Given the description of an element on the screen output the (x, y) to click on. 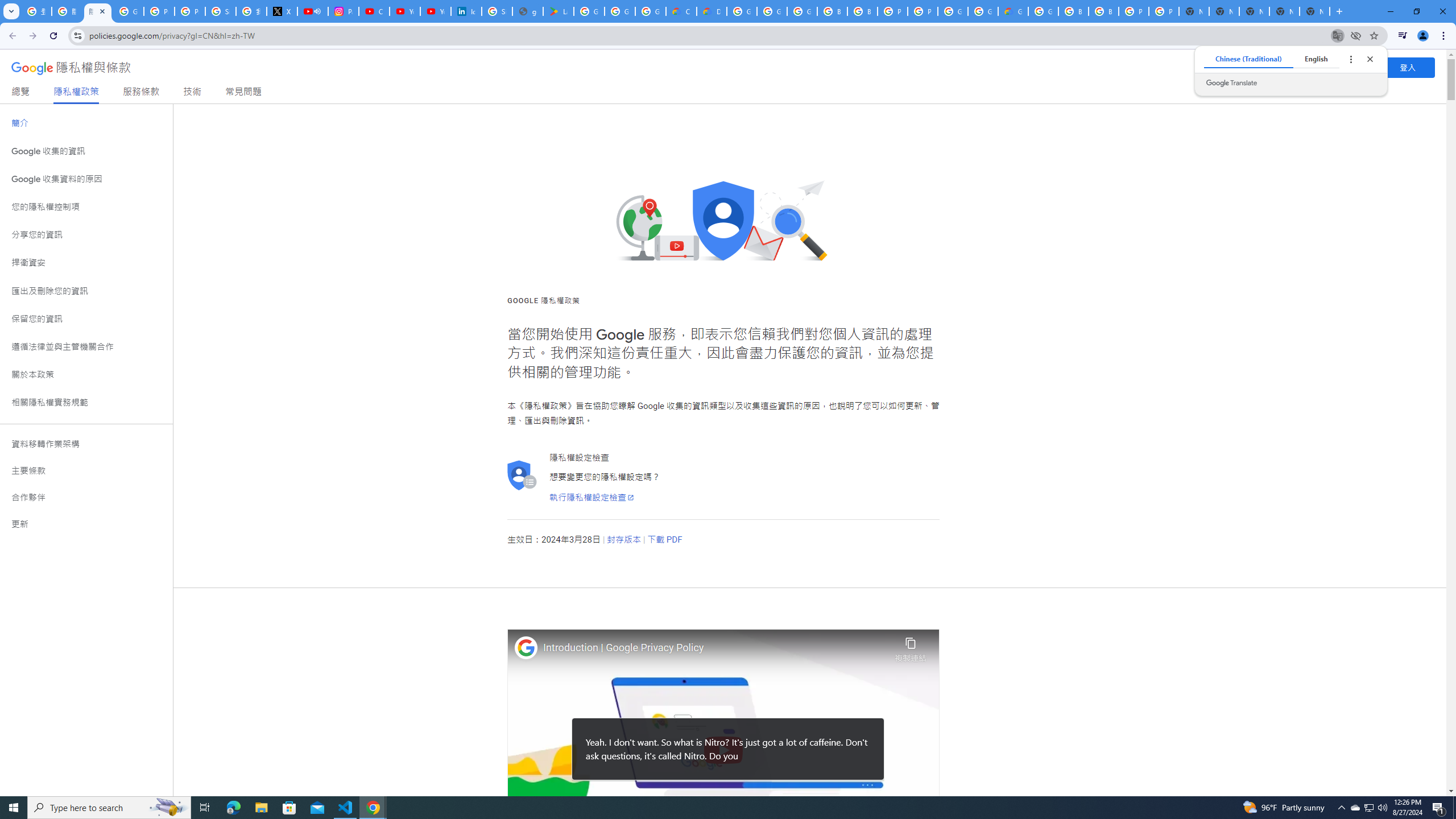
Privacy Help Center - Policies Help (158, 11)
Browse Chrome as a guest - Computer - Google Chrome Help (1103, 11)
New Tab (1314, 11)
X (282, 11)
